Given the description of an element on the screen output the (x, y) to click on. 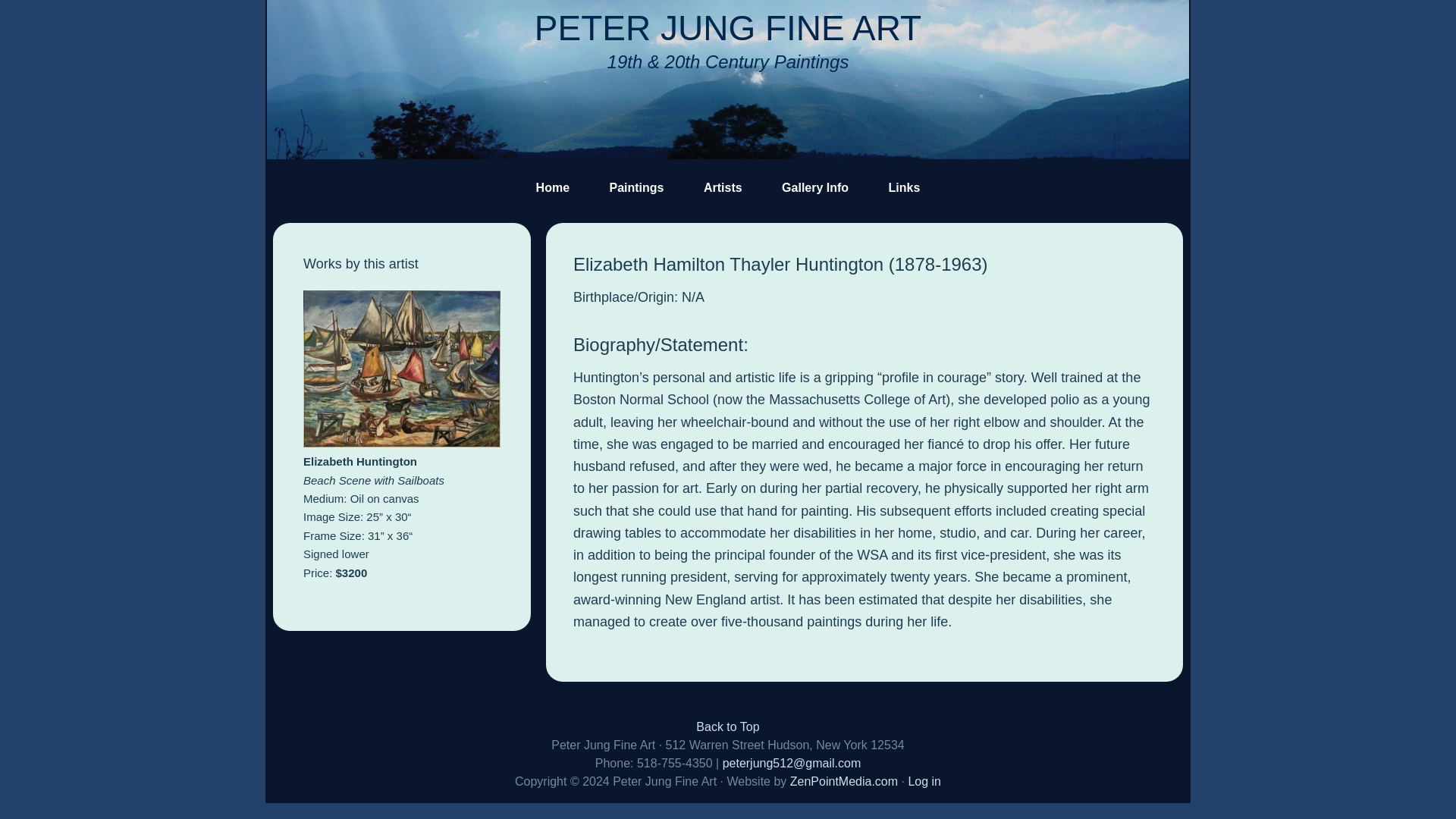
Log in (923, 780)
Gallery Info (814, 187)
PETER JUNG FINE ART (727, 27)
Back to Top (726, 726)
Links (904, 187)
Paintings (636, 187)
Artists (722, 187)
ZenPointMedia.com (844, 780)
Home (553, 187)
